Given the description of an element on the screen output the (x, y) to click on. 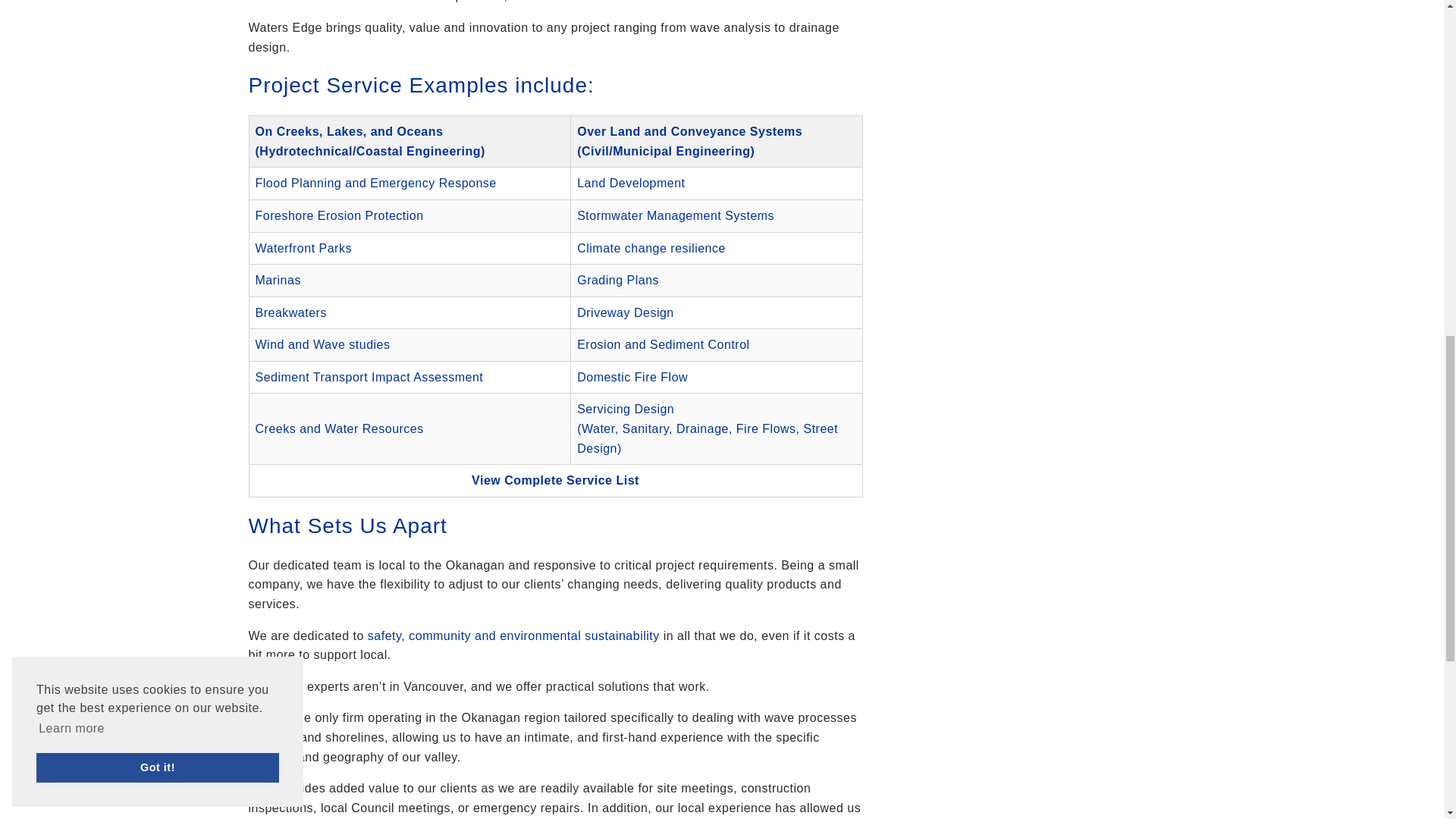
Foreshore Erosion Protection (338, 215)
Domestic Fire Flow (631, 377)
Flood Planning and Emergency Response (375, 182)
Wind and Wave studies (322, 344)
Climate change resilience (650, 247)
Creeks and Water Resources (338, 428)
Driveway Design (625, 312)
Marinas (276, 279)
Breakwaters (290, 312)
Stormwater Management Systems (675, 215)
Grading Plans (617, 279)
Land Development (630, 182)
safety, community and environmental sustainability (513, 635)
Erosion and Sediment Control (662, 344)
Waterfront Parks (302, 247)
